Given the description of an element on the screen output the (x, y) to click on. 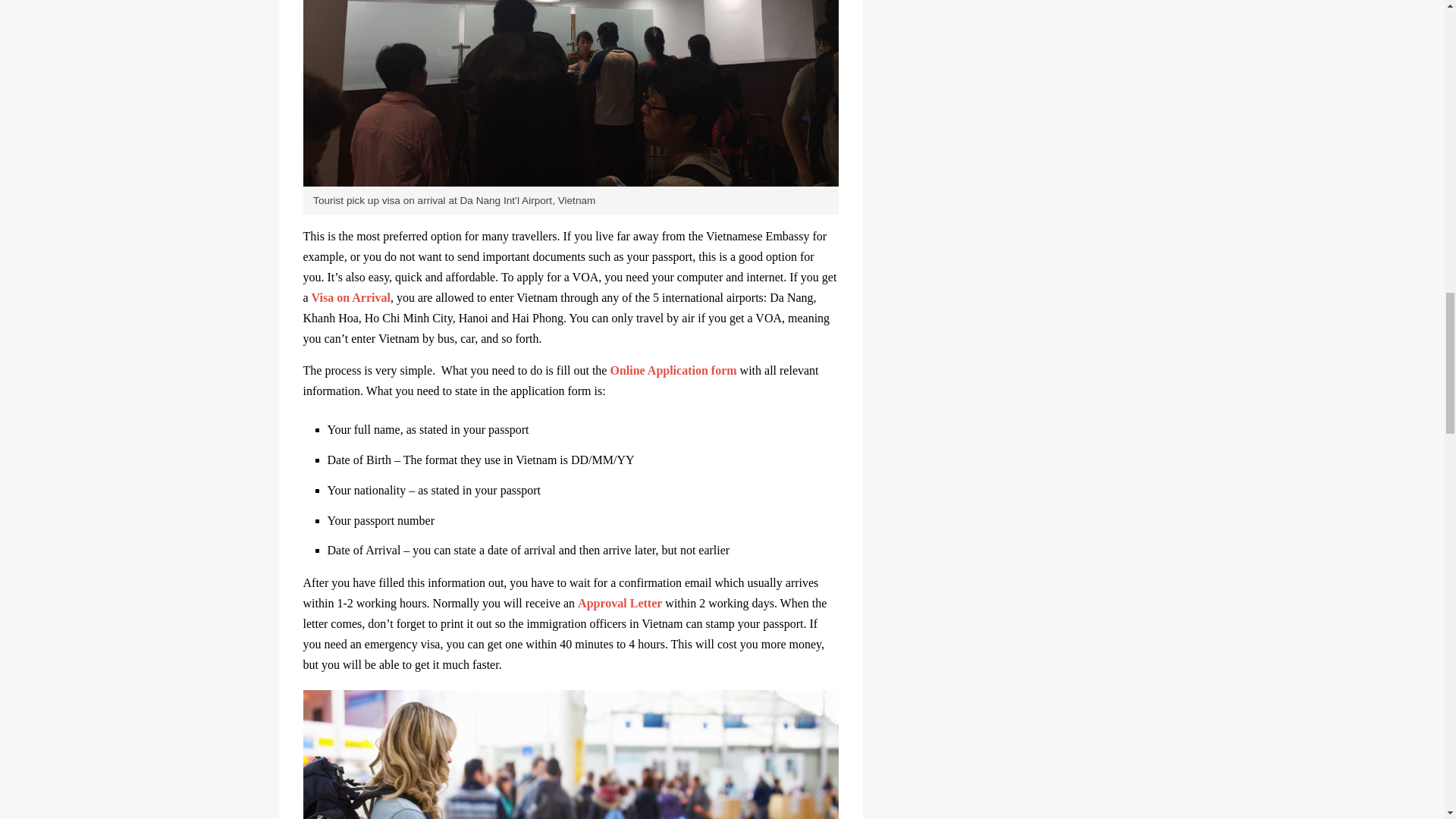
Approval Letter (620, 603)
Online Application form (673, 369)
Visa on Arrival (350, 297)
